Given the description of an element on the screen output the (x, y) to click on. 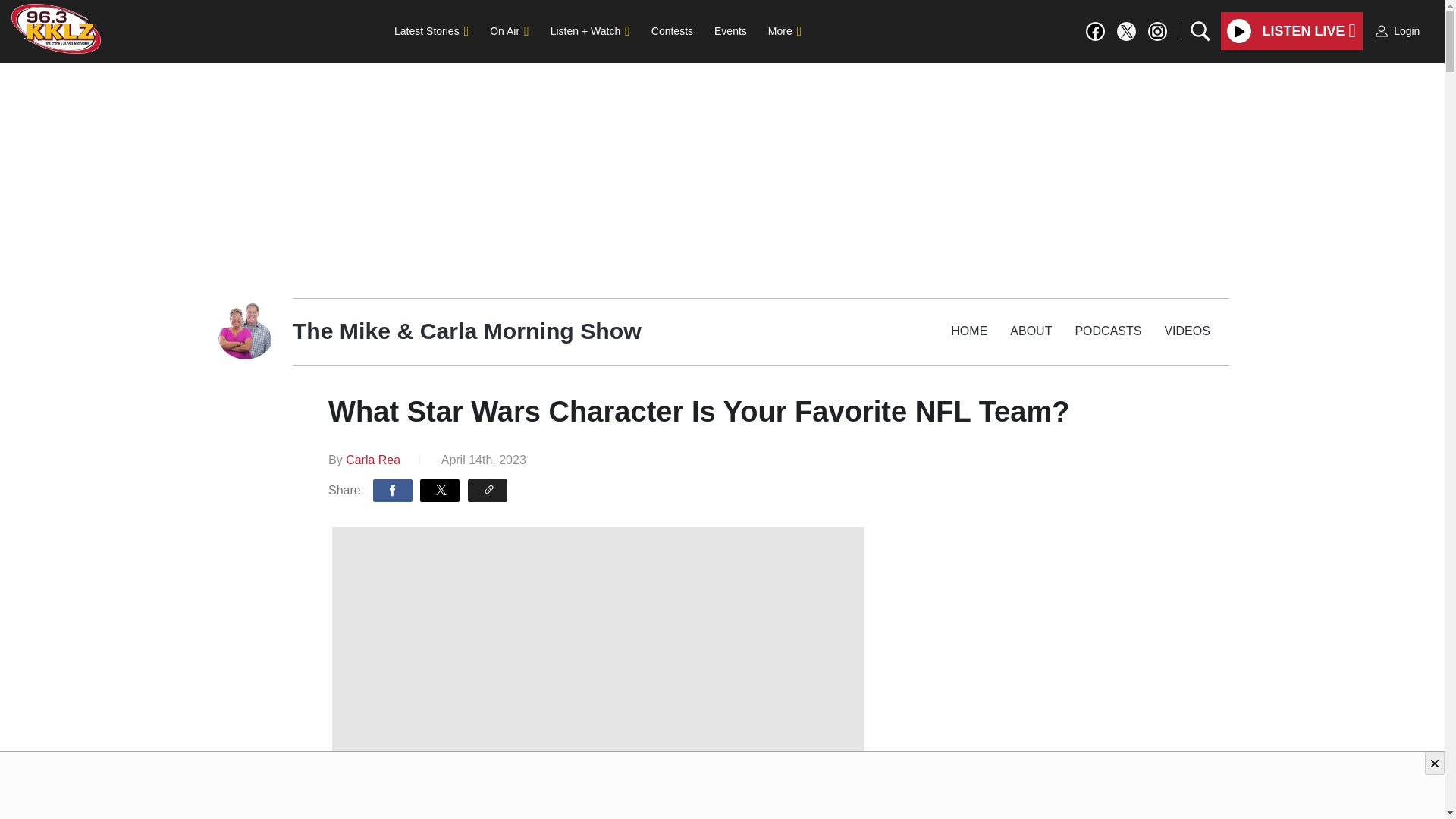
Latest Stories (431, 30)
On Air (508, 30)
Close AdCheckmark indicating ad close (1434, 763)
Carla Rea (373, 459)
